Given the description of an element on the screen output the (x, y) to click on. 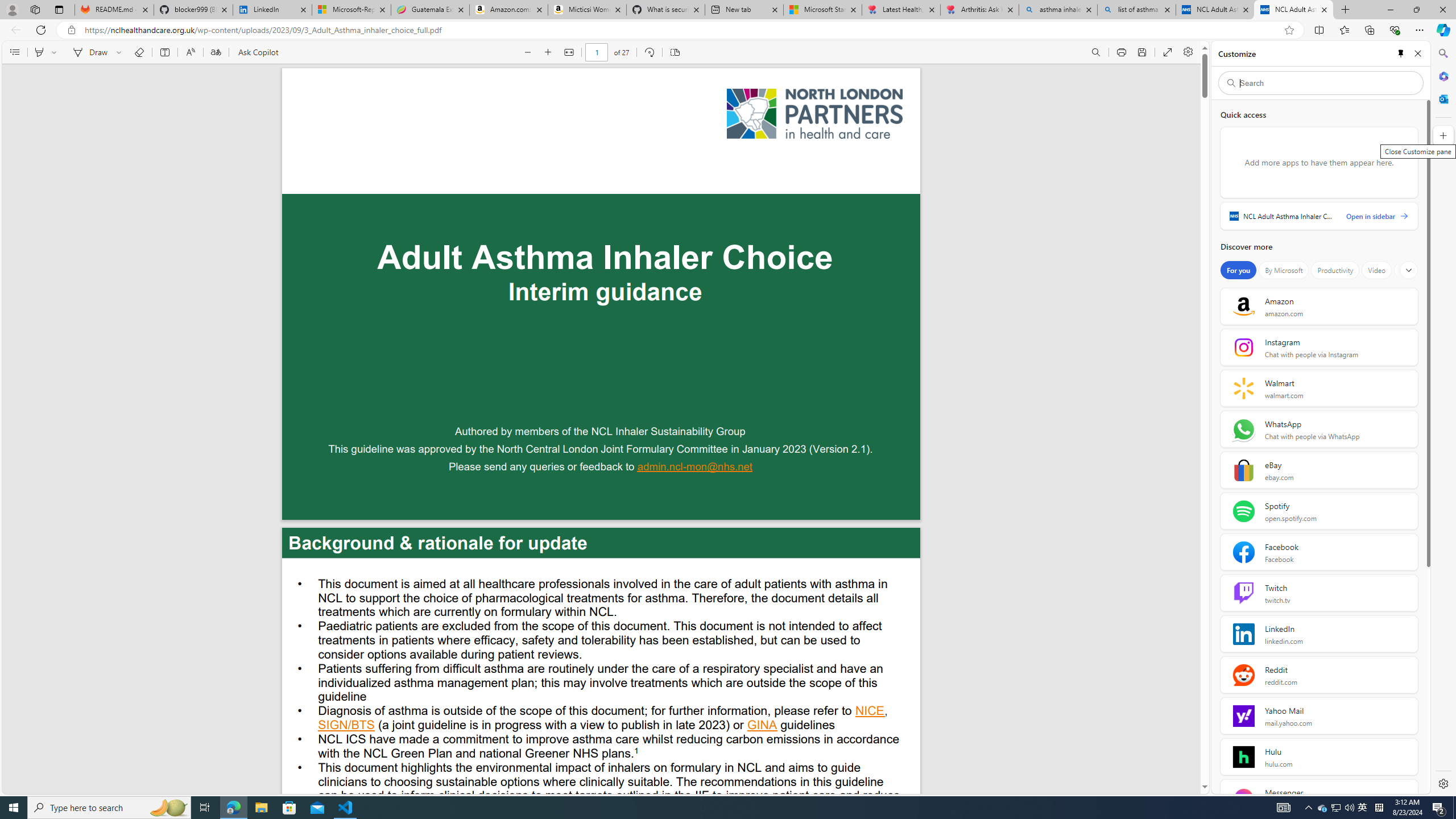
Add text (164, 52)
LinkedIn (272, 9)
Save (Ctrl+S) (1142, 52)
GINA  (761, 726)
